Given the description of an element on the screen output the (x, y) to click on. 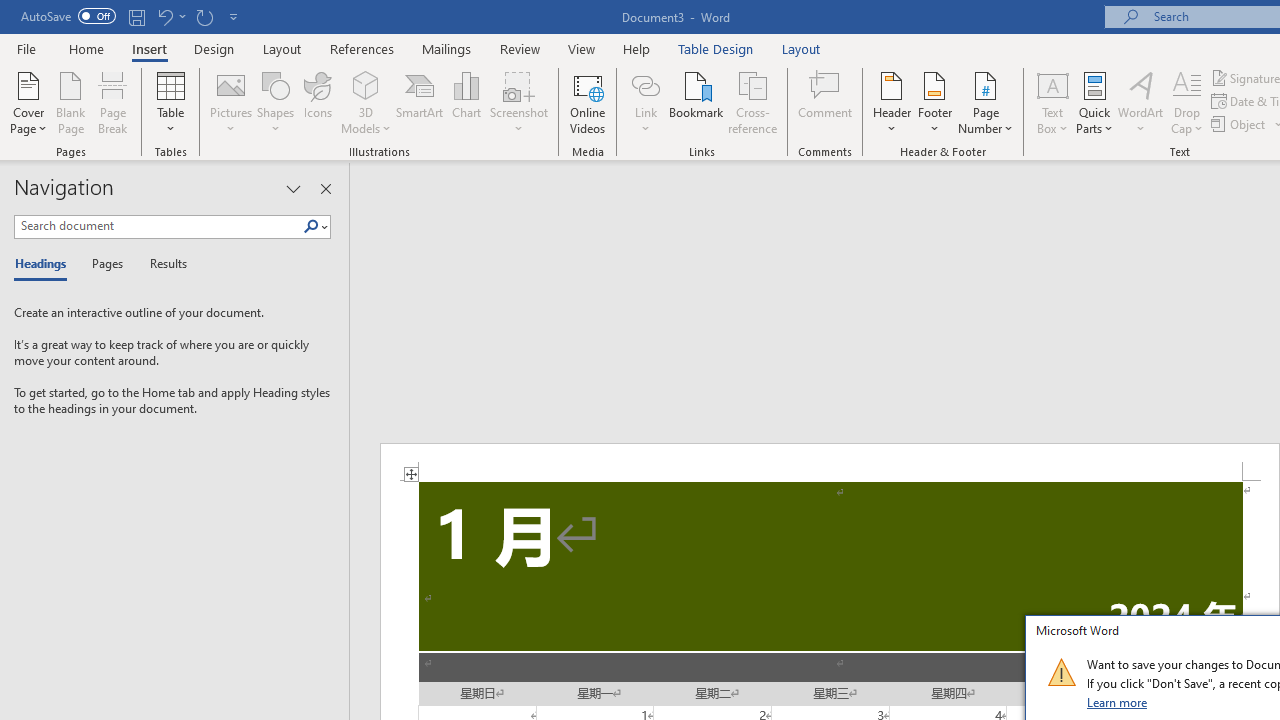
Object... (1240, 124)
Comment (825, 102)
Blank Page (70, 102)
Icons (317, 102)
Footer (934, 102)
Header (891, 102)
WordArt (1141, 102)
